Given the description of an element on the screen output the (x, y) to click on. 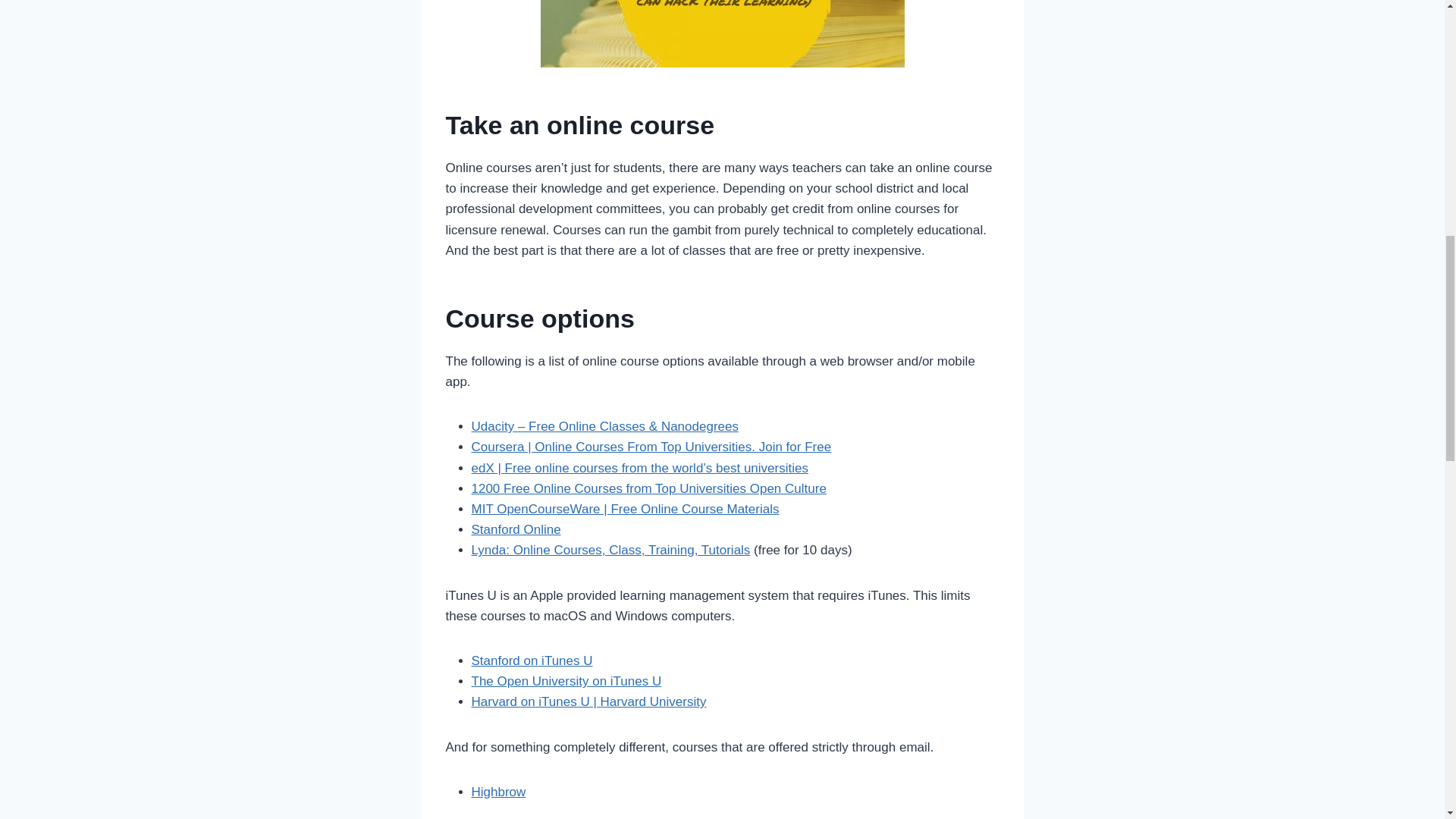
Highbrow (498, 791)
Stanford on iTunes U (531, 660)
The Open University on iTunes U (566, 681)
Lynda: Online Courses, Class, Training, Tutorials (611, 549)
1200 Free Online Courses from Top Universities Open Culture (649, 488)
Stanford Online (515, 529)
